Given the description of an element on the screen output the (x, y) to click on. 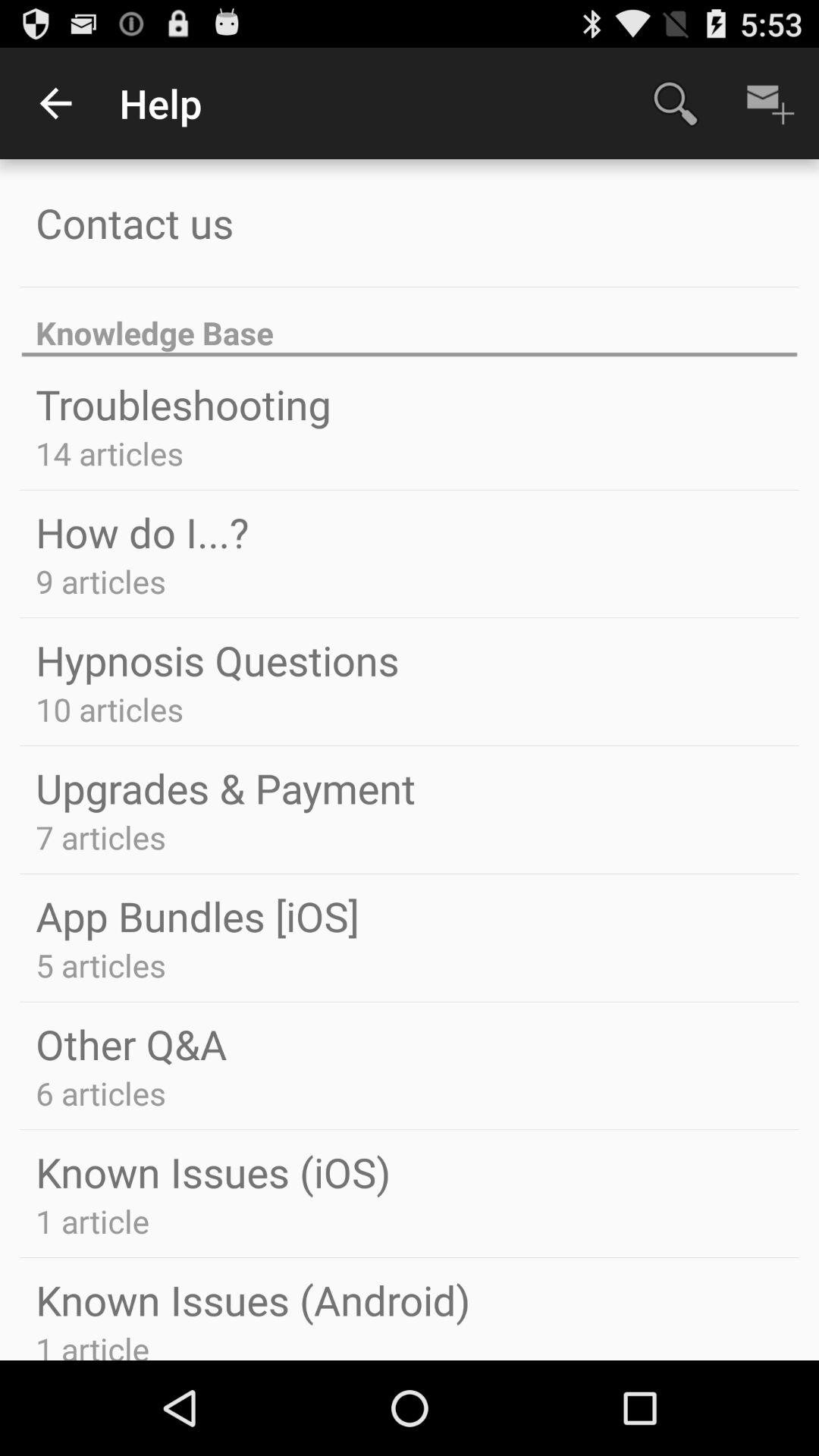
choose item above contact us app (55, 103)
